Given the description of an element on the screen output the (x, y) to click on. 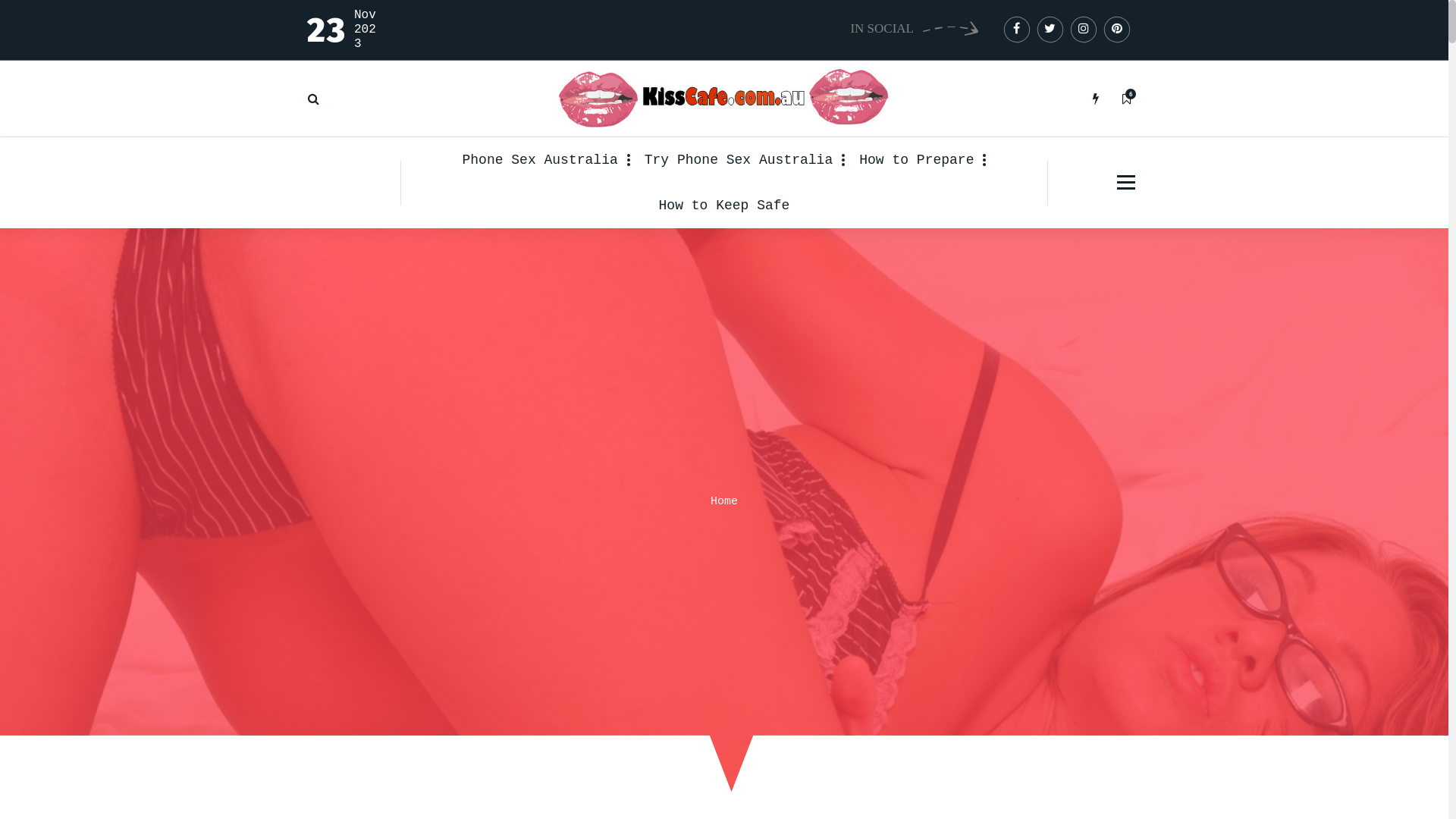
How to Keep Safe Element type: text (724, 205)
Home Element type: text (723, 501)
How to Prepare Element type: text (916, 159)
Try Phone Sex Australia Element type: text (738, 159)
Phone Sex Australia Element type: text (546, 159)
6 Element type: text (1125, 98)
